Given the description of an element on the screen output the (x, y) to click on. 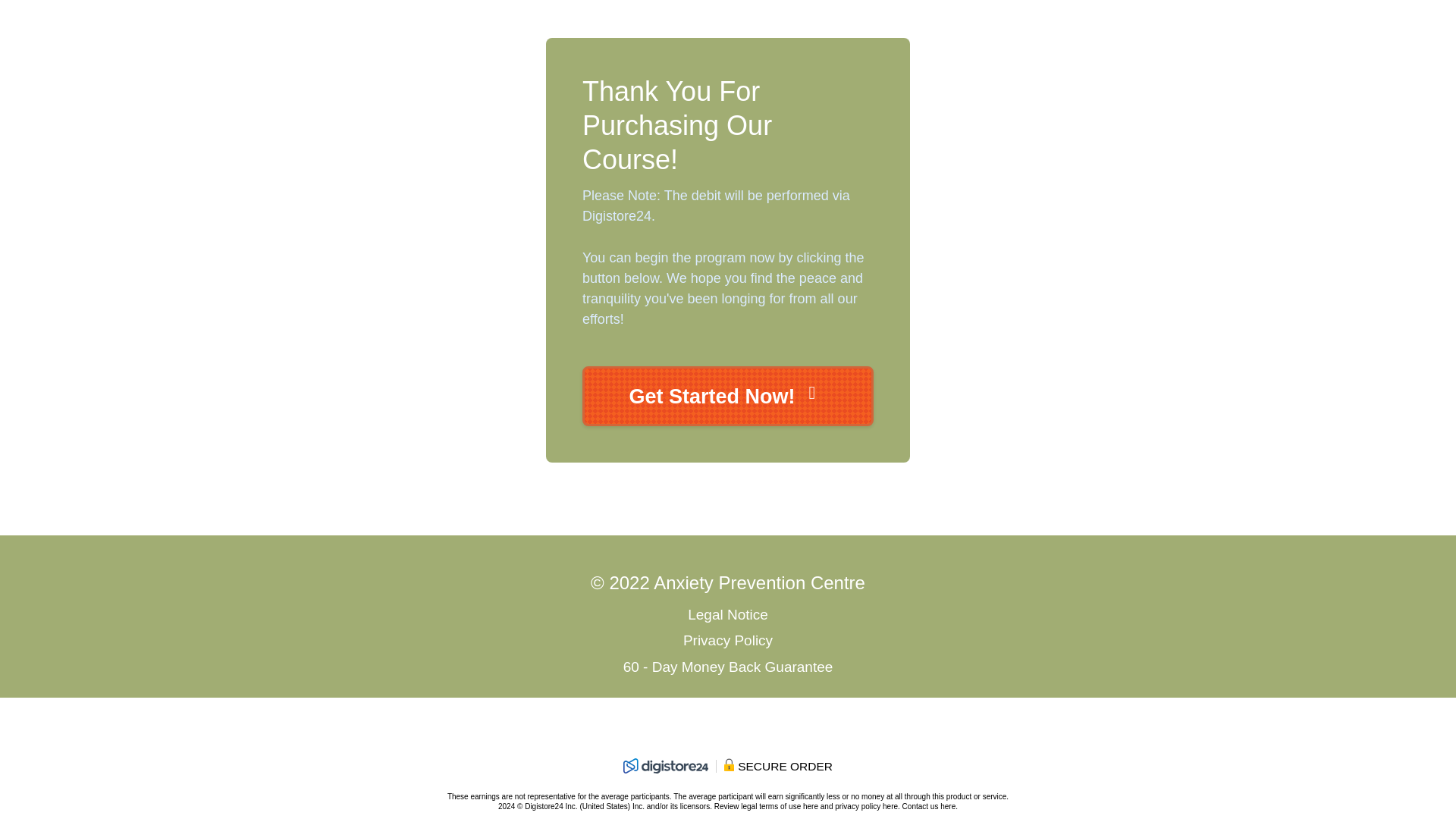
Legal Notice (727, 612)
SECURE ORDER (727, 770)
Get Started Now! (727, 395)
here (947, 806)
60 - Day Money Back Guarantee (727, 667)
Privacy Policy (727, 640)
here (810, 806)
here (890, 806)
